Given the description of an element on the screen output the (x, y) to click on. 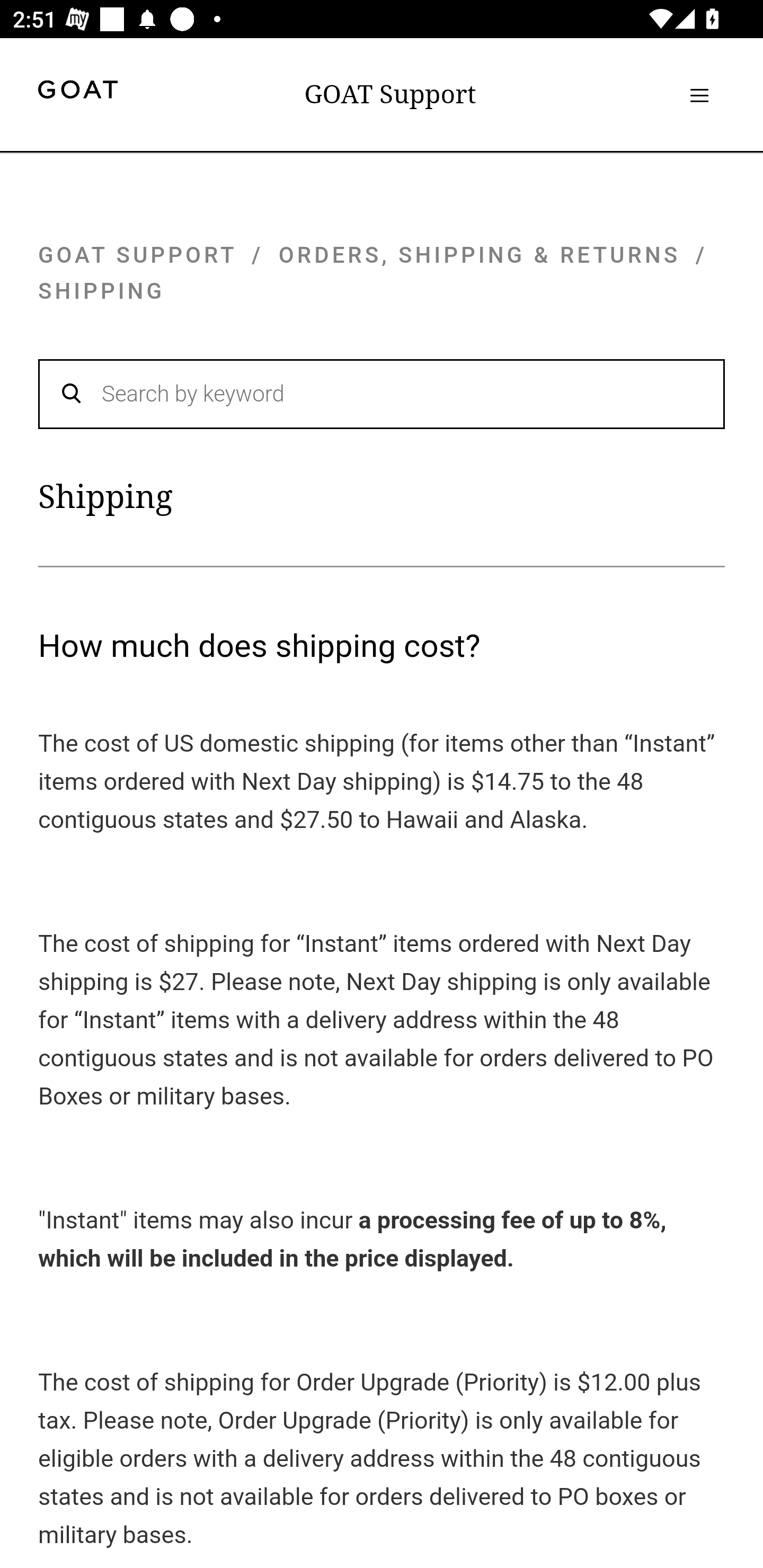
goat header logo (77, 92)
Toggle navigation menu (698, 94)
GOAT Support (389, 94)
GOAT SUPPORT (137, 254)
ORDERS, SHIPPING & RETURNS (480, 254)
SHIPPING (101, 291)
